Given the description of an element on the screen output the (x, y) to click on. 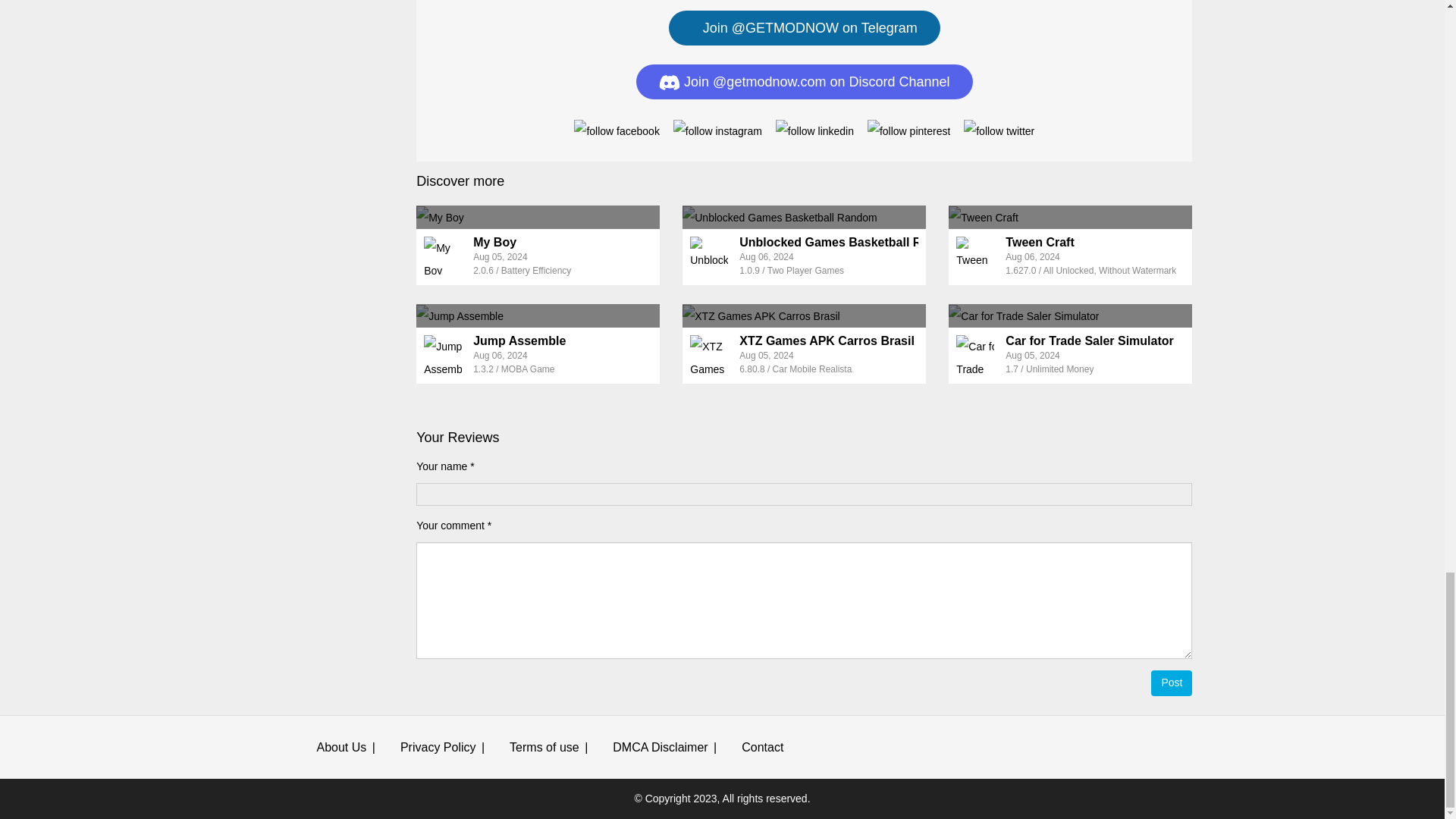
Jump Assemble (519, 340)
Unblocked Games Basketball Random (849, 241)
Car for Trade Saler Simulator (1070, 315)
My Boy (494, 241)
Post (1171, 683)
Tween Craft (1040, 241)
Car for Trade Saler Simulator (1089, 340)
My Boy (537, 217)
Jump Assemble (537, 315)
Tween Craft (1070, 217)
Unblocked Games Basketball Random (804, 217)
XTZ Games APK Carros Brasil (804, 315)
XTZ Games APK Carros Brasil (826, 340)
